Given the description of an element on the screen output the (x, y) to click on. 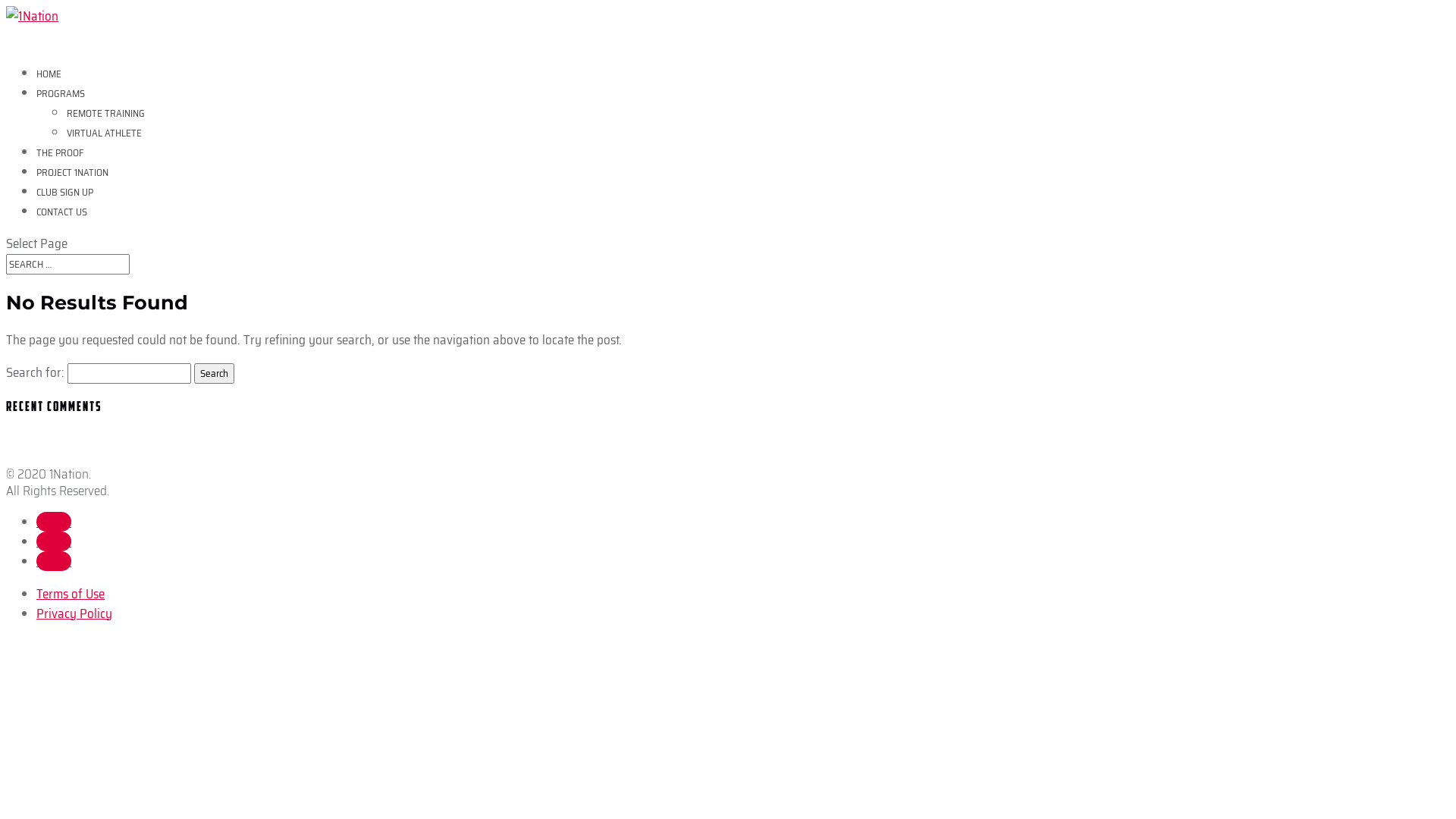
Search Element type: text (214, 373)
PROJECT 1NATION Element type: text (72, 176)
PROGRAMS Element type: text (60, 97)
Follow Element type: text (53, 561)
Privacy Policy Element type: text (74, 613)
CLUB SIGN UP Element type: text (64, 196)
Follow Element type: text (53, 541)
CONTACT US Element type: text (61, 216)
HOME Element type: text (48, 78)
Search for: Element type: hover (67, 264)
Terms of Use Element type: text (70, 593)
VIRTUAL ATHLETE Element type: text (103, 133)
Follow Element type: text (53, 521)
THE PROOF Element type: text (59, 156)
REMOTE TRAINING Element type: text (105, 113)
